Given the description of an element on the screen output the (x, y) to click on. 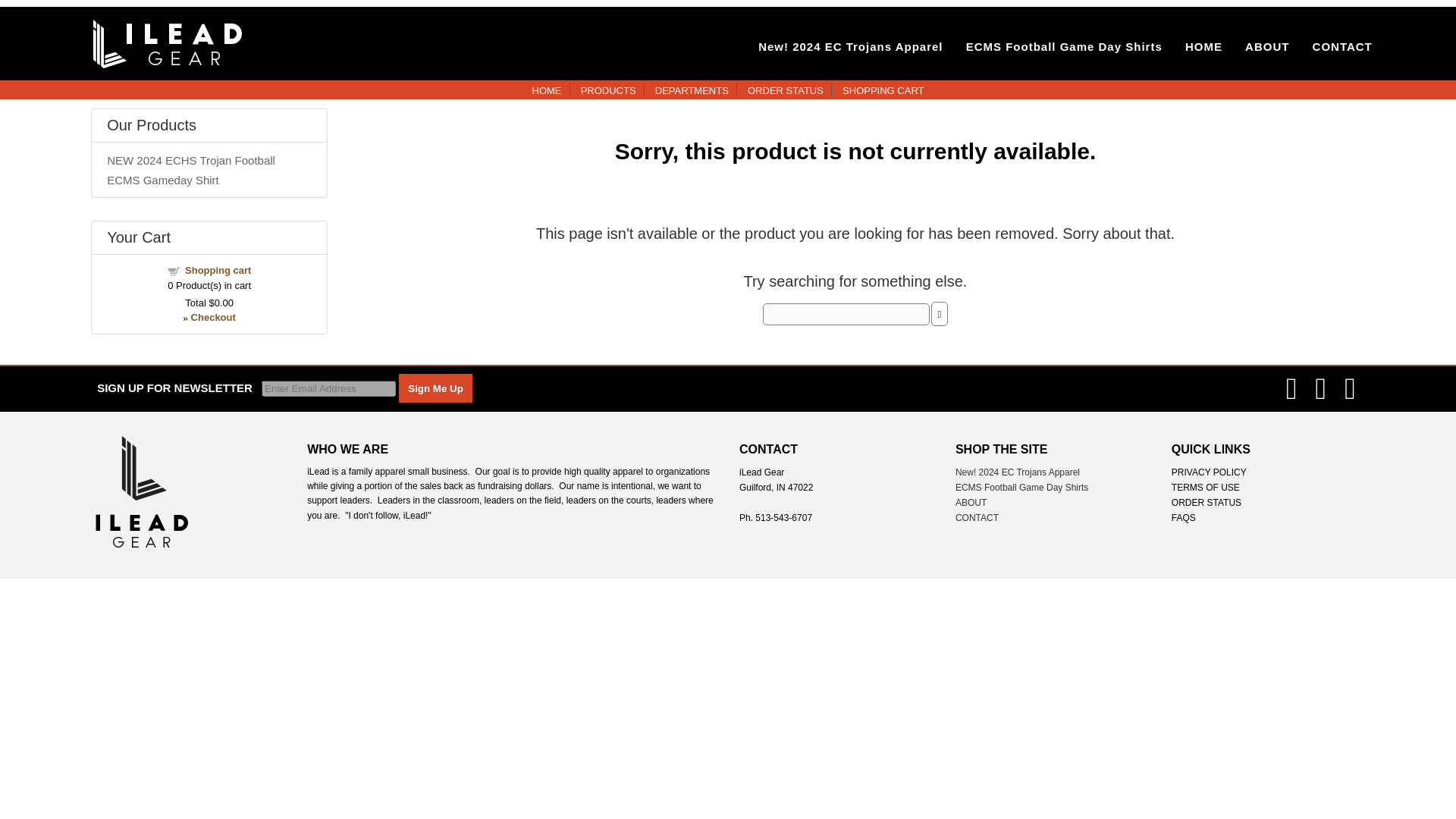
facebook (1291, 387)
CONTACT (1341, 46)
SHOPPING CART (883, 90)
FAQS (1183, 517)
twitter (1321, 387)
ECMS Gameday Shirt (162, 179)
ABOUT (971, 502)
PRIVACY POLICY (1209, 471)
ABOUT (1266, 46)
New! 2024 EC Trojans Apparel (1017, 471)
instagram (1349, 387)
ECMS Football Game Day Shirts (1064, 46)
CONTACT (976, 517)
HOME (547, 90)
New! 2024 EC Trojans Apparel (850, 46)
